Given the description of an element on the screen output the (x, y) to click on. 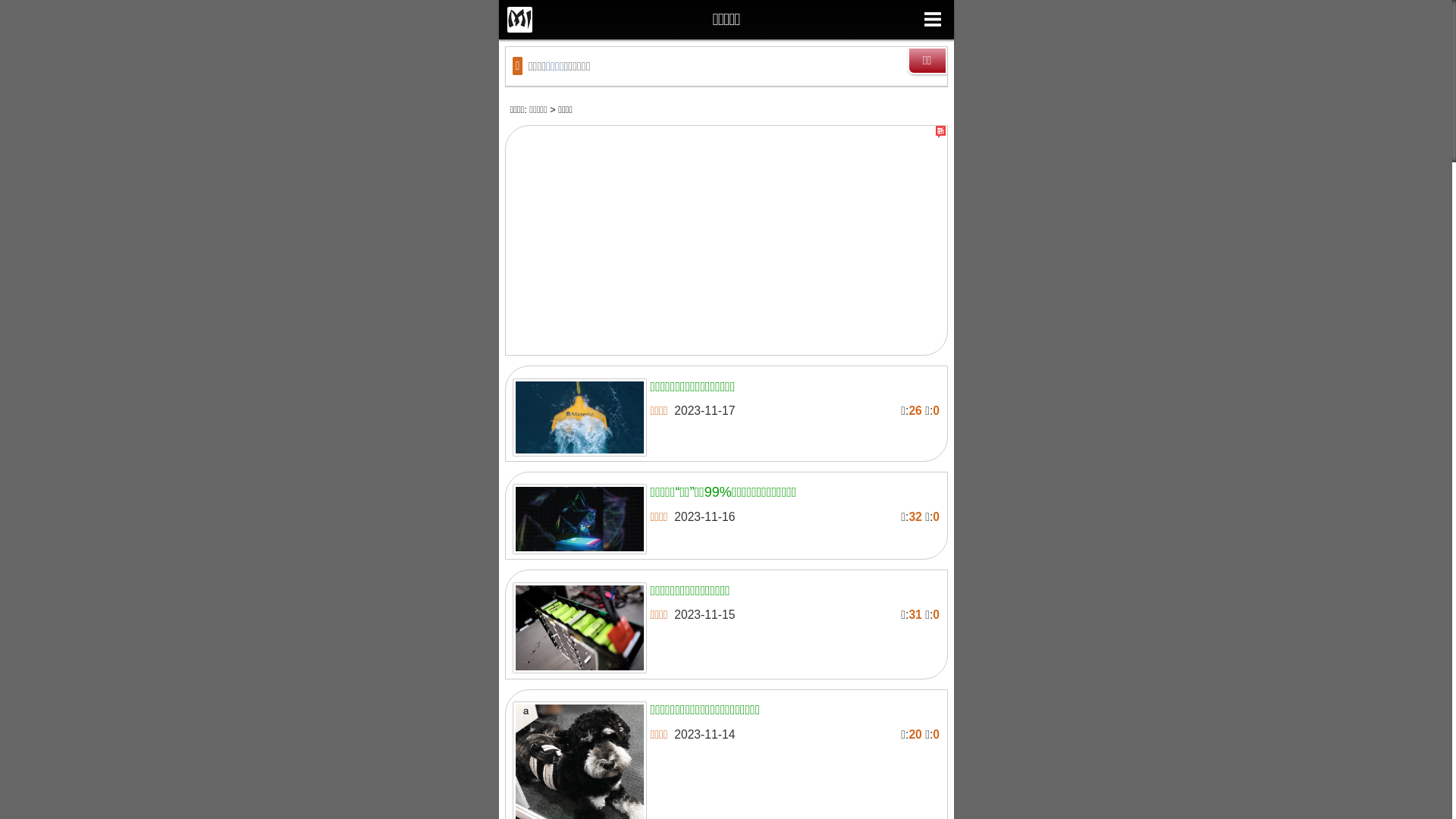
Advertisement Element type: hover (725, 244)
